Given the description of an element on the screen output the (x, y) to click on. 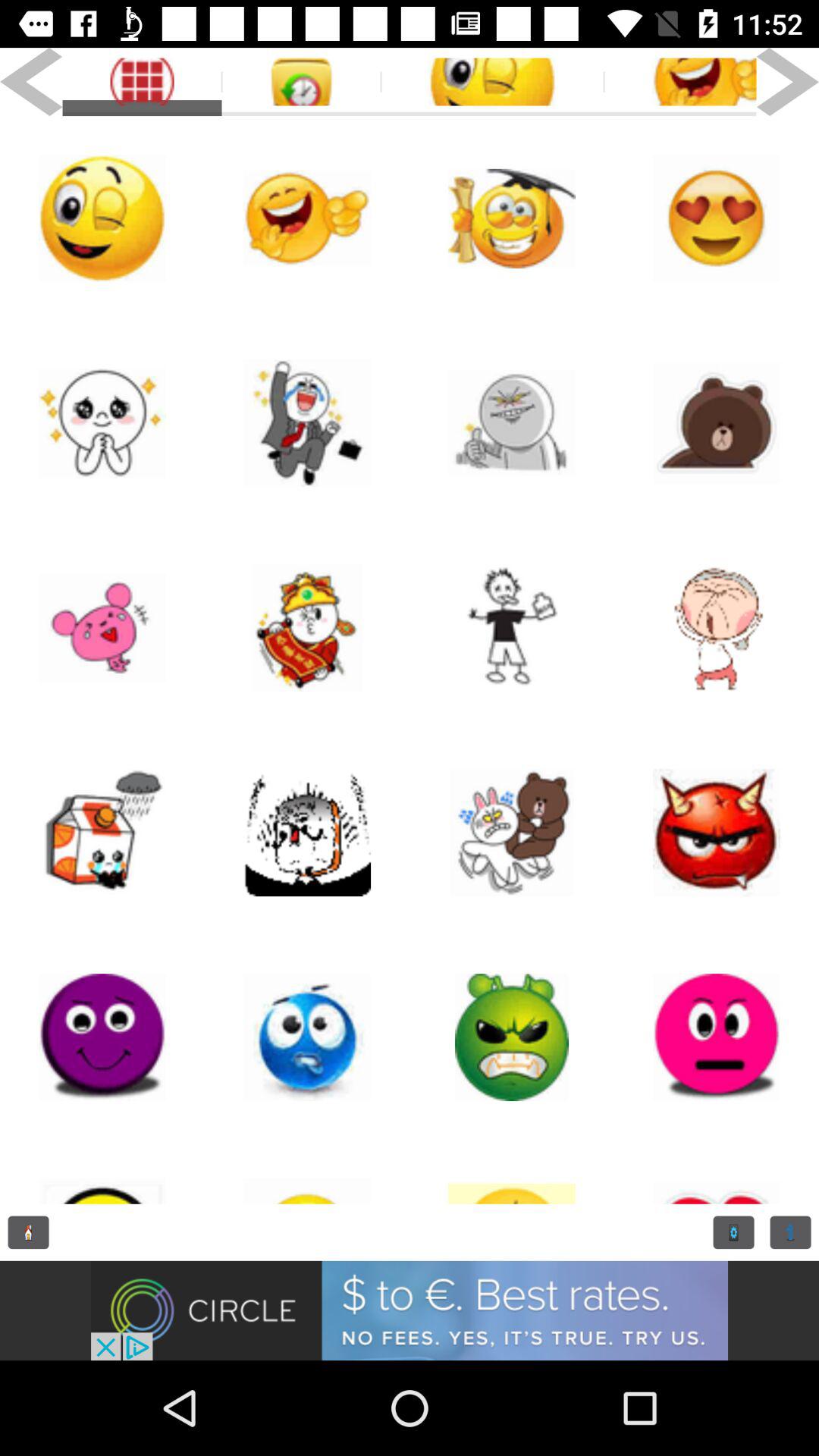
this is an advertisement (409, 1310)
